Given the description of an element on the screen output the (x, y) to click on. 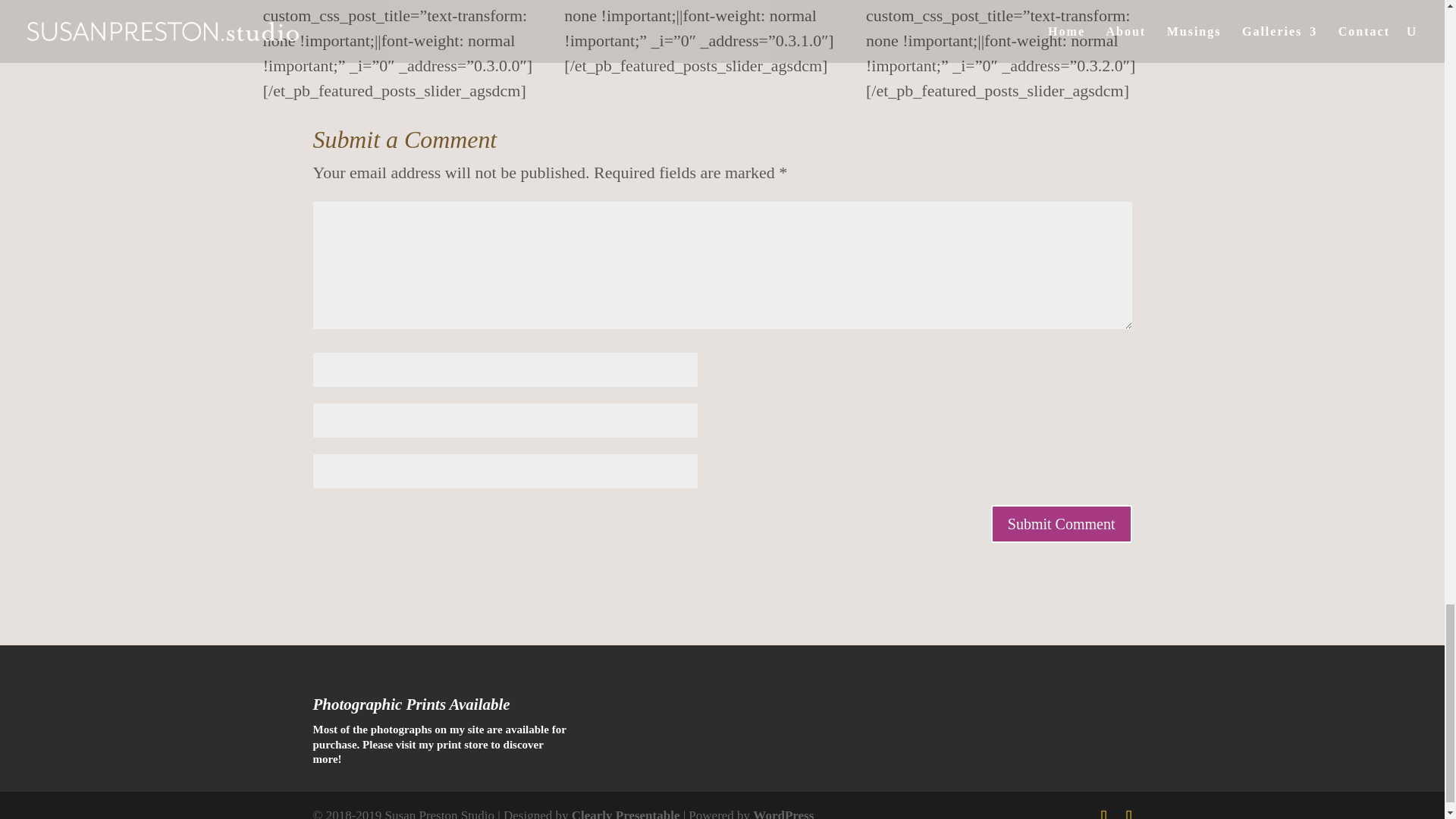
WordPress (782, 813)
Premium WordPress Themes (625, 813)
Submit Comment (1061, 523)
Clearly Presentable (625, 813)
Submit Comment (1061, 523)
